Given the description of an element on the screen output the (x, y) to click on. 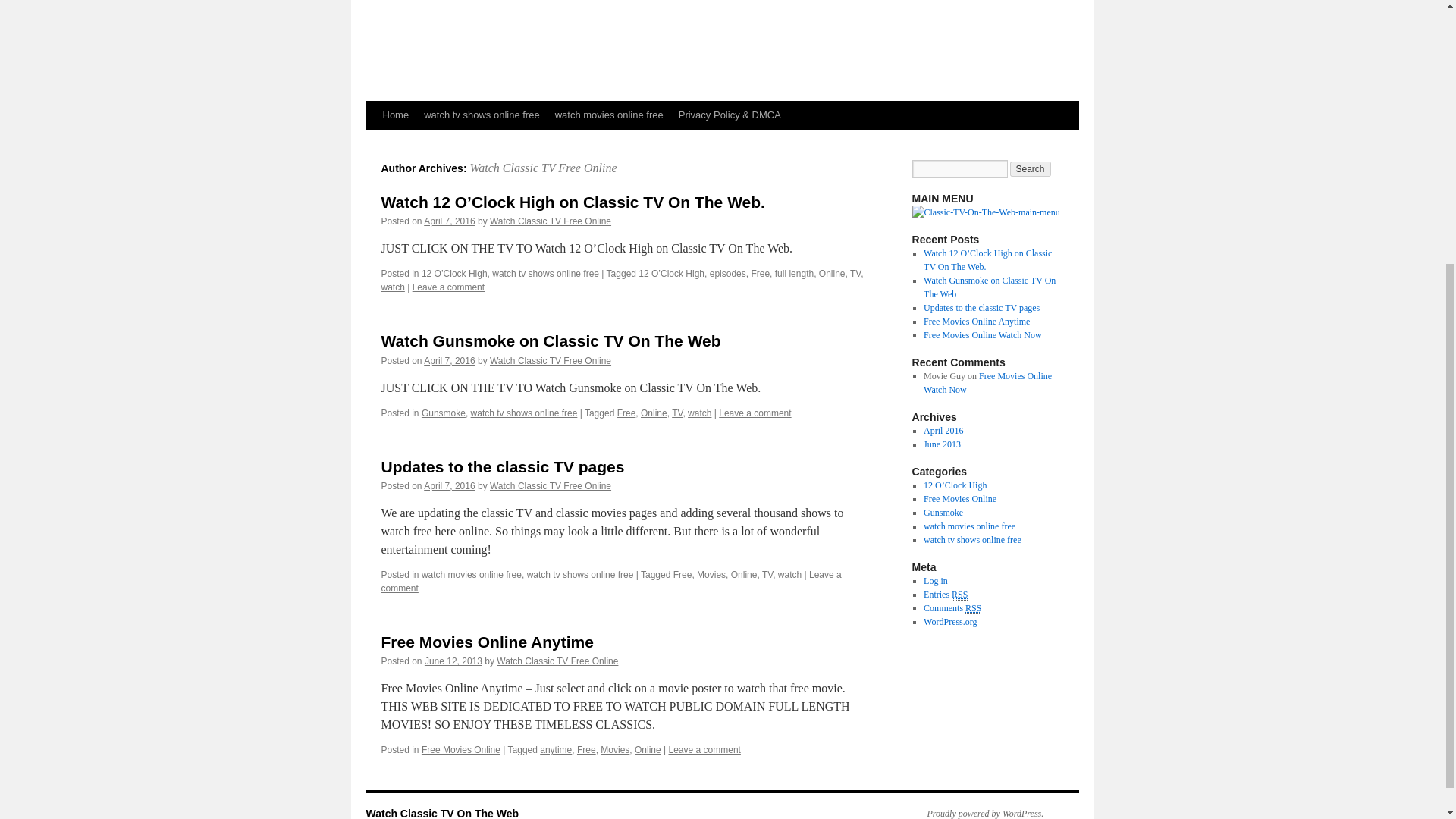
View all posts by Watch Classic TV Free Online (556, 661)
8:04 pm (453, 661)
View all posts by Watch Classic TV Free Online (550, 221)
3:01 pm (448, 221)
View all posts by Watch Classic TV Free Online (550, 360)
2:31 pm (448, 360)
Really Simple Syndication (960, 594)
Home (395, 114)
Really Simple Syndication (973, 608)
Watch Classic TV Free Online (541, 167)
watch tv shows online free (481, 114)
1:08 am (448, 485)
Search (1030, 168)
View all posts by Watch Classic TV Free Online (550, 485)
